Given the description of an element on the screen output the (x, y) to click on. 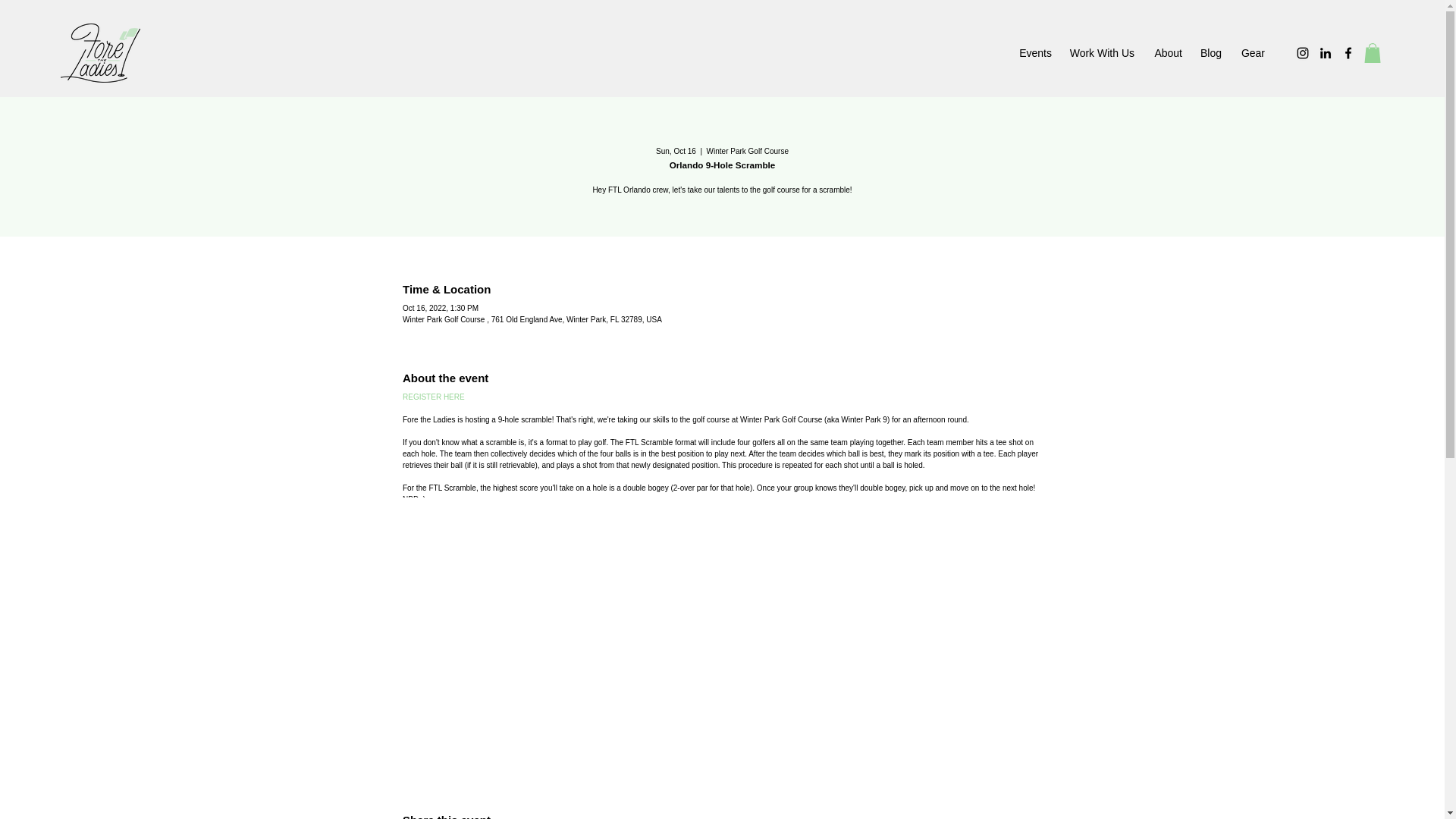
About (1165, 52)
Work With Us (1100, 52)
Blog (1208, 52)
REGISTER HERE (433, 397)
Events (1034, 52)
